Given the description of an element on the screen output the (x, y) to click on. 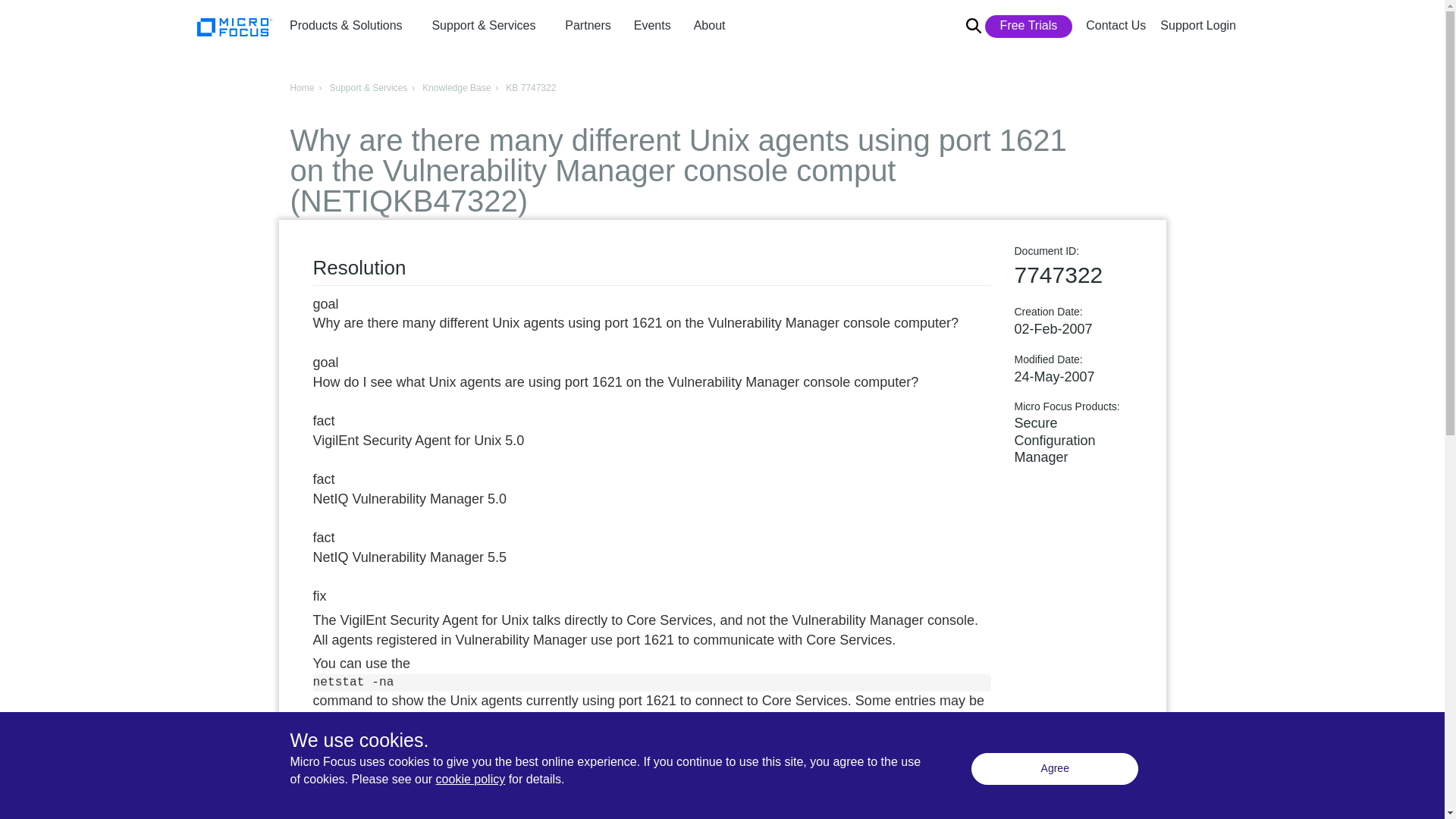
Agree (1054, 768)
cookie policy (470, 779)
